Given the description of an element on the screen output the (x, y) to click on. 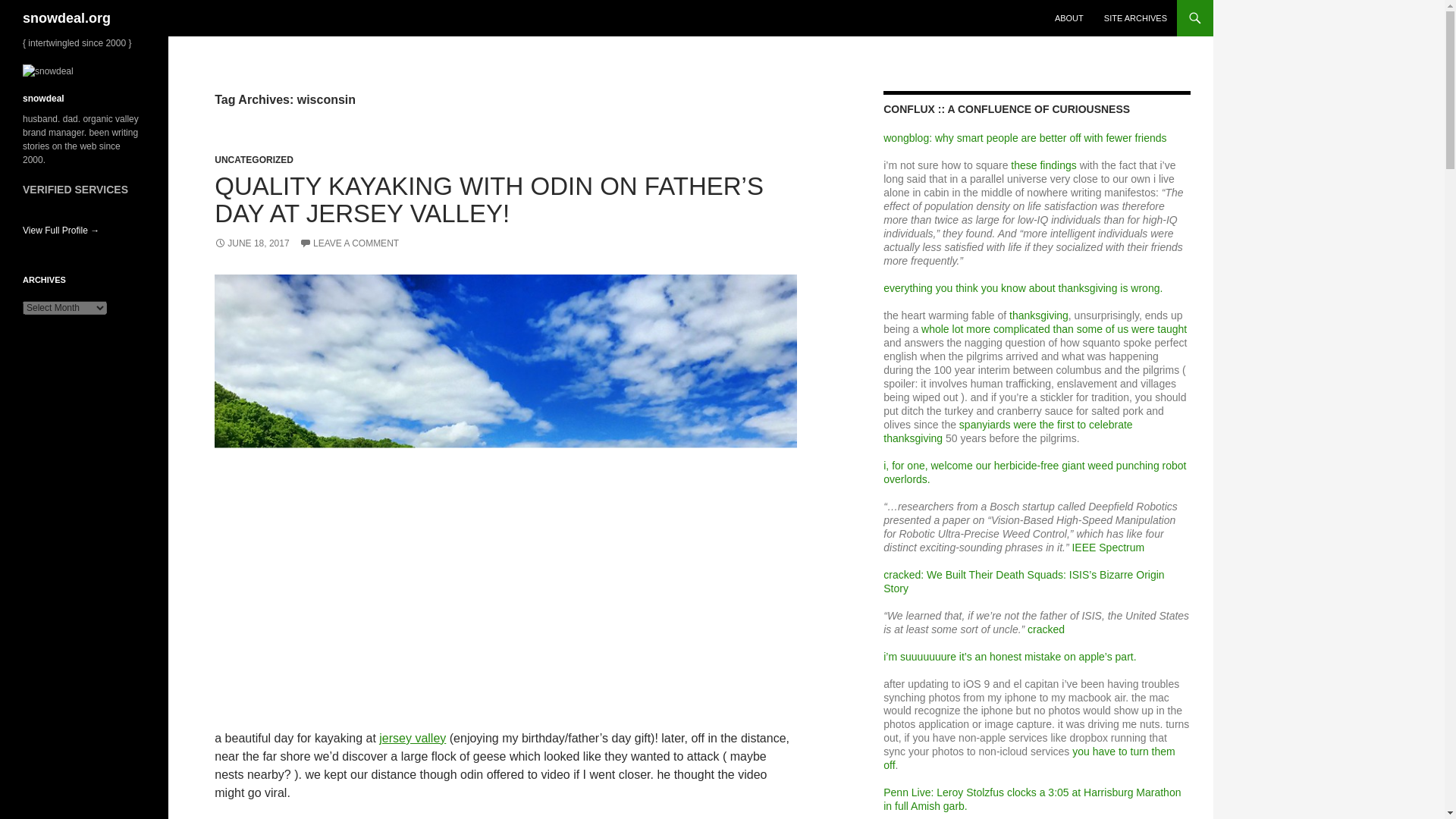
UNCATEGORIZED (254, 159)
jersey valley (411, 738)
SITE ARCHIVES (1135, 18)
JUNE 18, 2017 (251, 243)
quality kayaking with odin on father's day at jersey valley! (505, 491)
ABOUT (1069, 18)
snowdeal.org (66, 18)
LEAVE A COMMENT (348, 243)
